Given the description of an element on the screen output the (x, y) to click on. 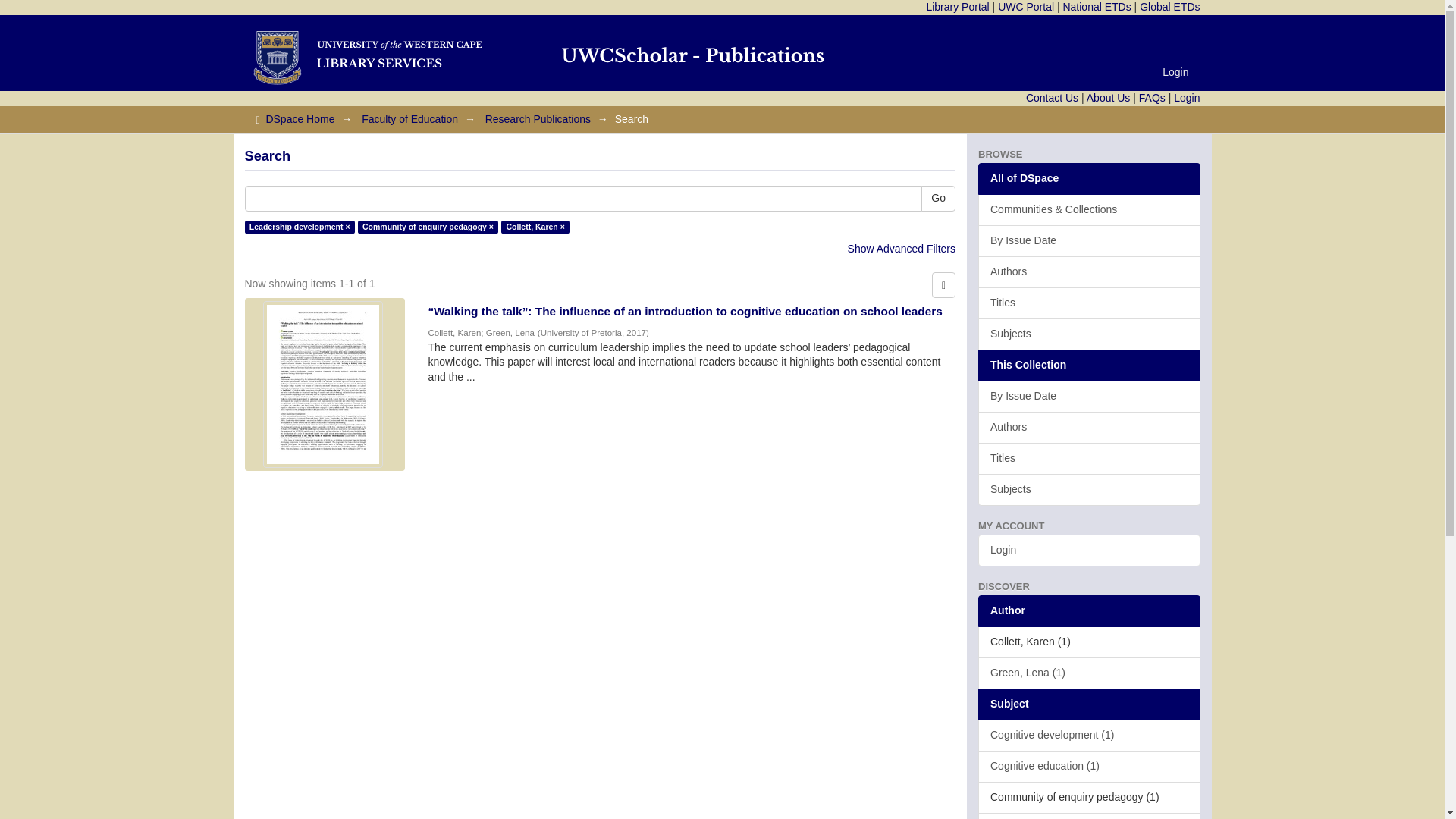
National ETDs (1096, 6)
Global ETDs (1169, 6)
Login (1175, 71)
About Us (1108, 97)
Contact Us (1052, 97)
Go (938, 198)
Faculty of Education (409, 119)
FAQs (1152, 97)
Library Portal (957, 6)
Show Advanced Filters (901, 248)
UWC Portal (1025, 6)
Research Publications (537, 119)
Login (1186, 97)
DSpace Home (299, 119)
